Given the description of an element on the screen output the (x, y) to click on. 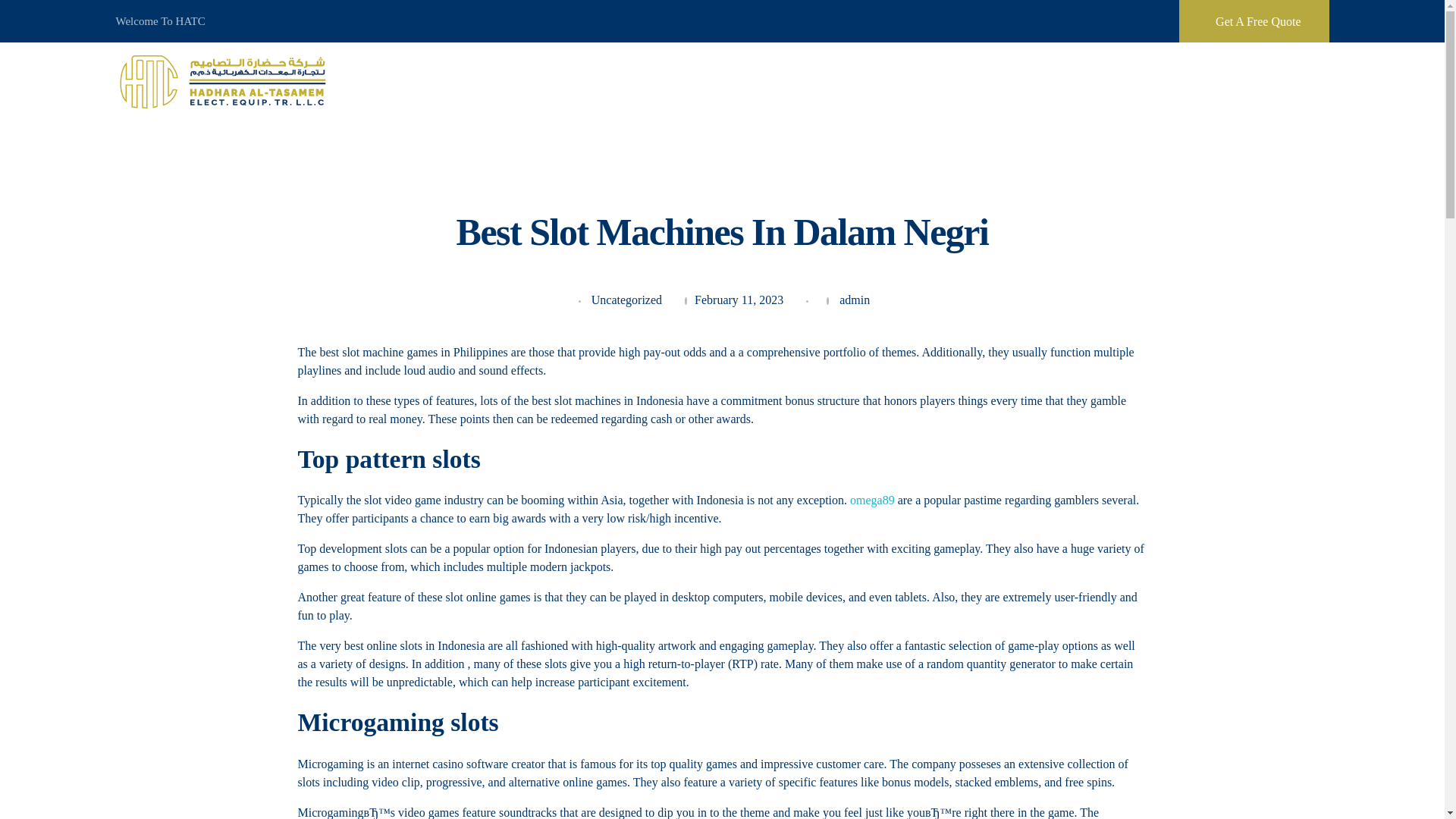
omega89 (872, 499)
HATC (142, 121)
View all posts in Uncategorized (626, 299)
View all posts by admin (854, 299)
admin (854, 299)
HATC (224, 81)
Uncategorized (626, 299)
